Given the description of an element on the screen output the (x, y) to click on. 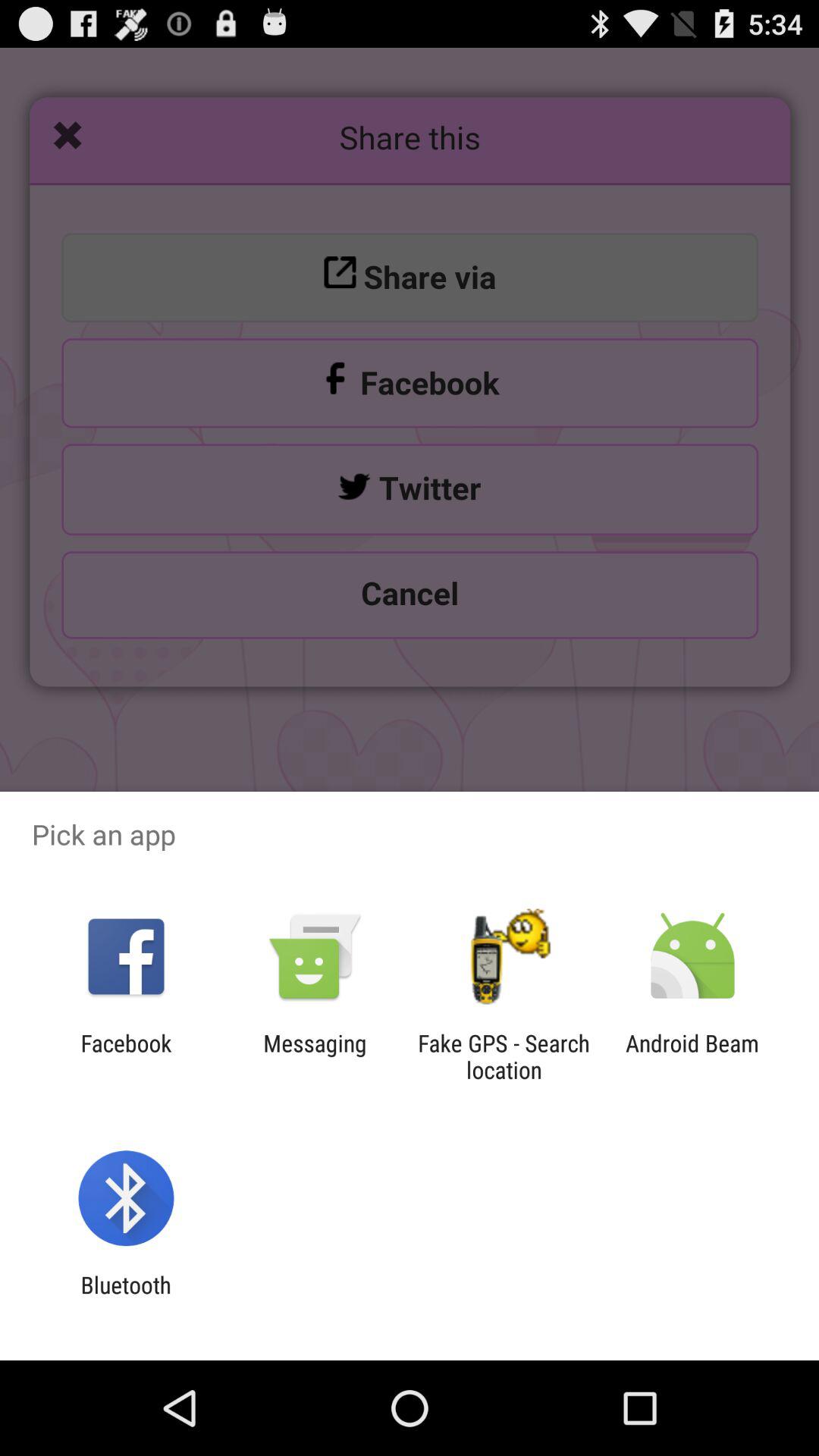
select bluetooth item (125, 1298)
